Given the description of an element on the screen output the (x, y) to click on. 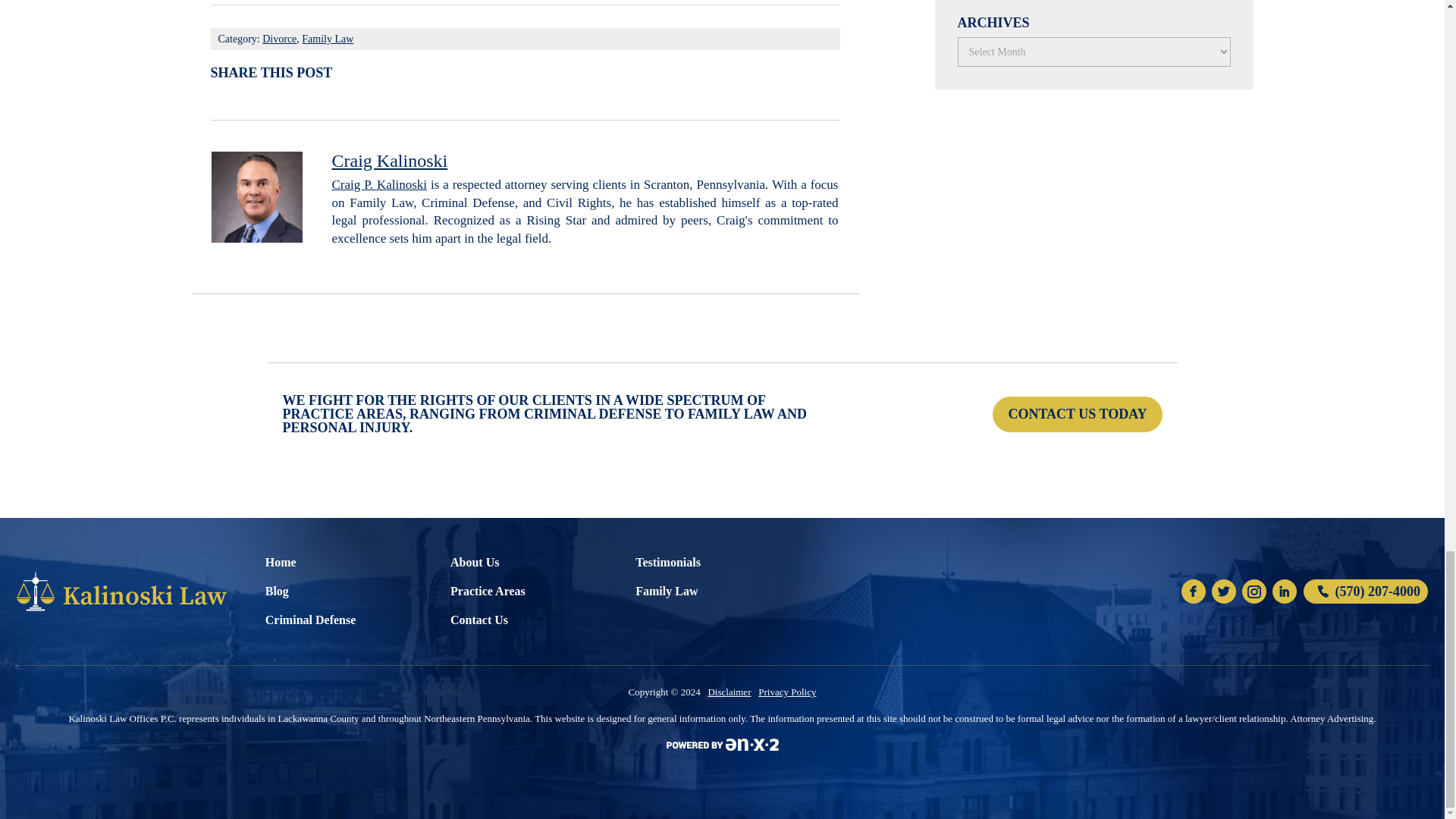
Family Law (327, 39)
Divorce (279, 39)
Craig Kalinoski (389, 160)
Craig Kalinoski (389, 160)
Craig P. Kalinoski (379, 184)
